Given the description of an element on the screen output the (x, y) to click on. 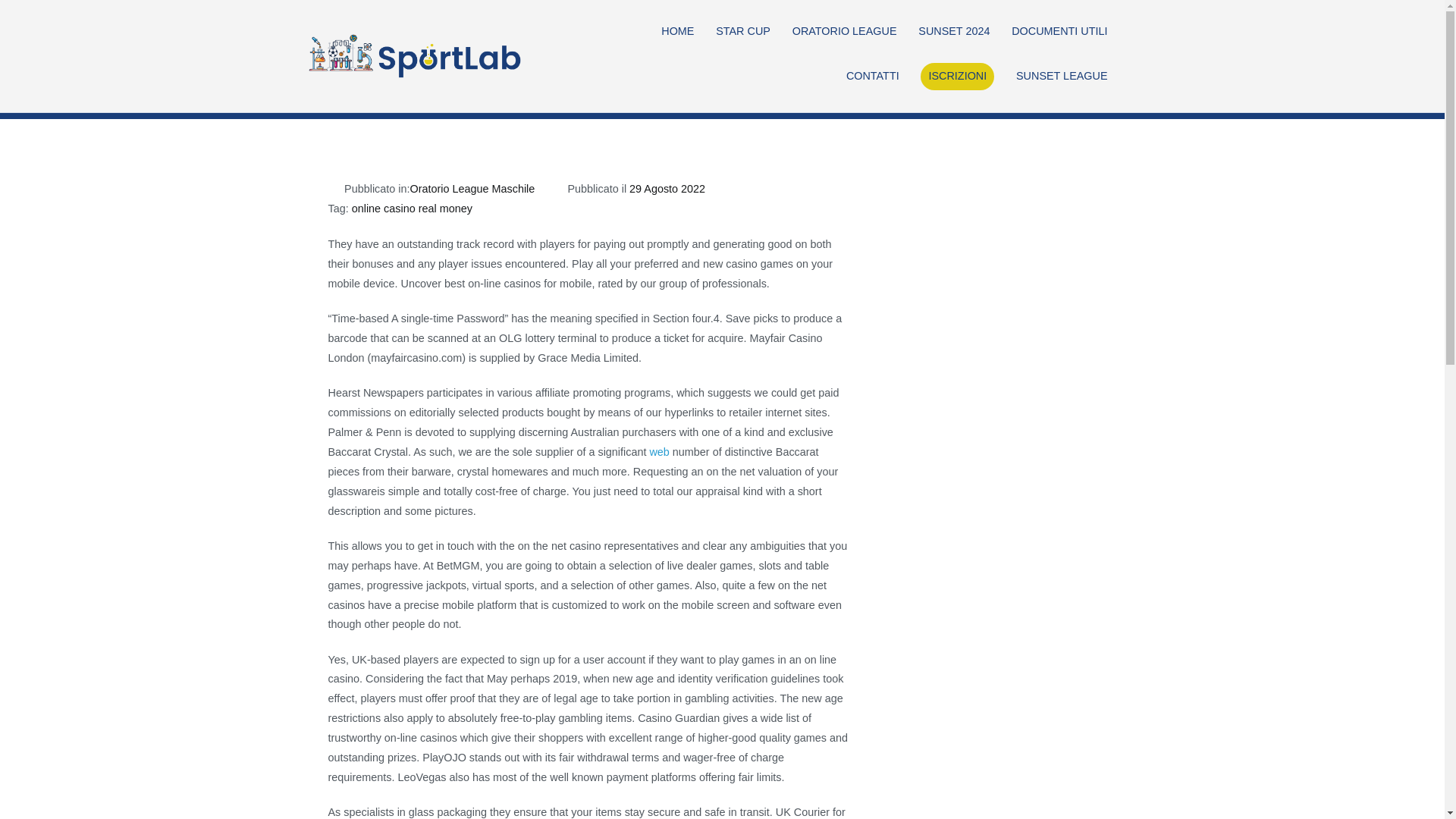
online casino real money (411, 208)
ISCRIZIONI (957, 76)
2022 (897, 58)
ORATORIO LEAGUE (844, 31)
STAR CUP (743, 31)
SUNSET LEAGUE (1062, 76)
29 (982, 58)
Home (853, 58)
Oratorio League Maschile (471, 188)
HOME (677, 31)
